Given the description of an element on the screen output the (x, y) to click on. 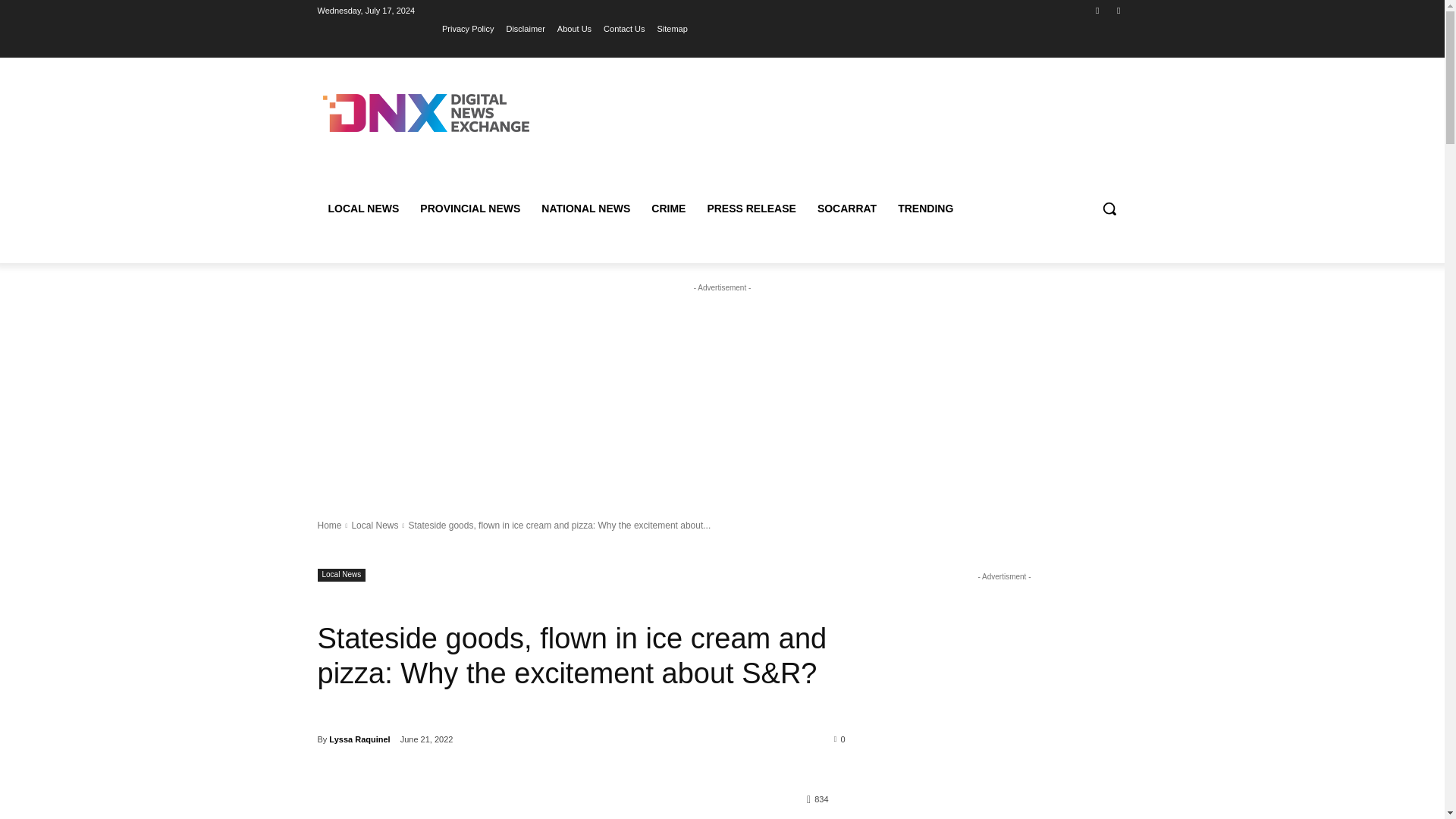
TRENDING (924, 208)
Sitemap (671, 28)
View all posts in Local News (373, 525)
0 (839, 737)
Home (328, 525)
Contact Us (624, 28)
Local News (341, 574)
Twitter (1117, 9)
NATIONAL NEWS (585, 208)
Lyssa Raquinel (359, 739)
Local News (373, 525)
CRIME (667, 208)
Disclaimer (524, 28)
SOCARRAT (846, 208)
